Given the description of an element on the screen output the (x, y) to click on. 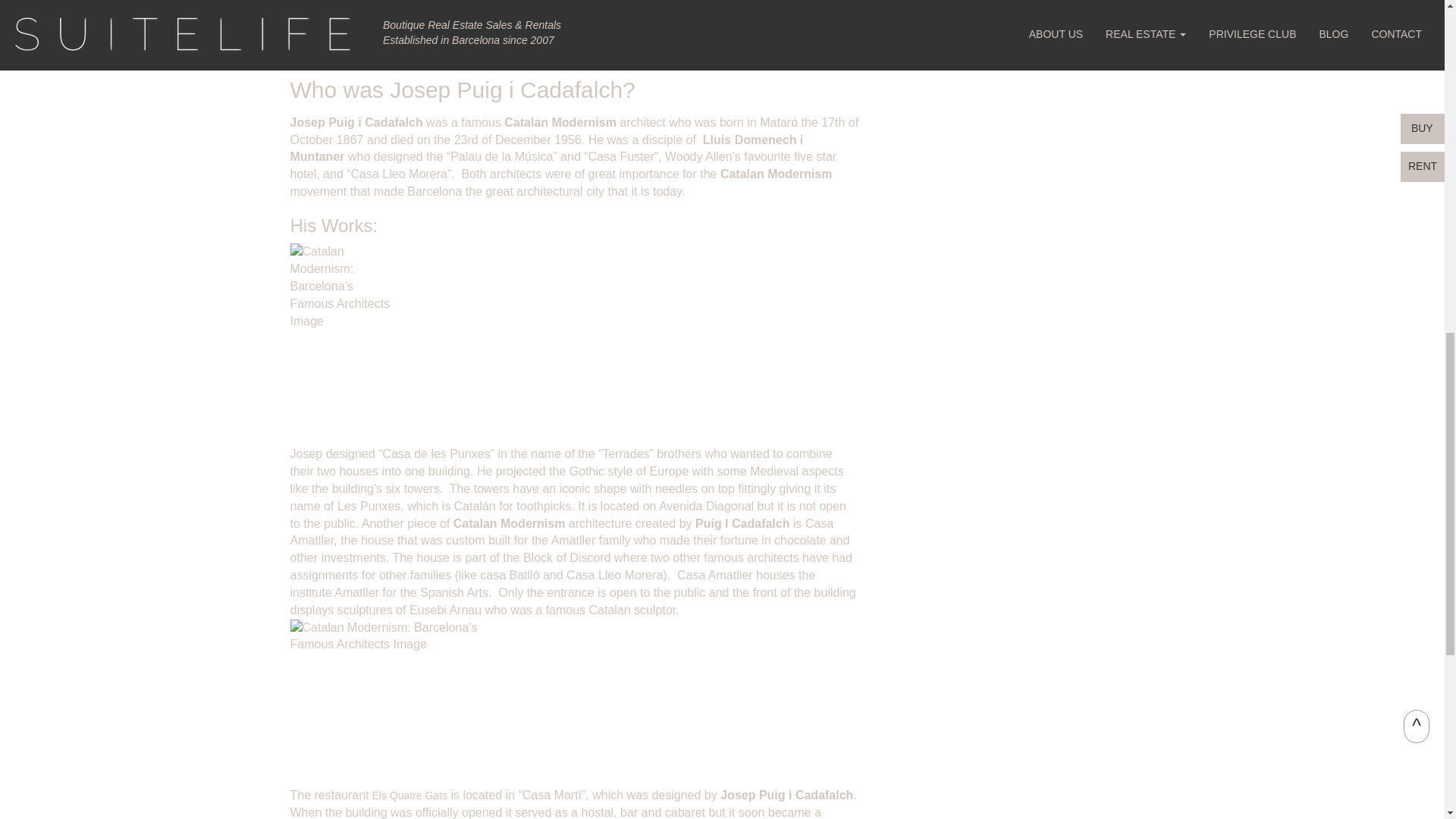
Catalan modernism Famous Catalan restaurant Els Quatre Gats (407, 795)
Els Quatre Gats (407, 795)
